Given the description of an element on the screen output the (x, y) to click on. 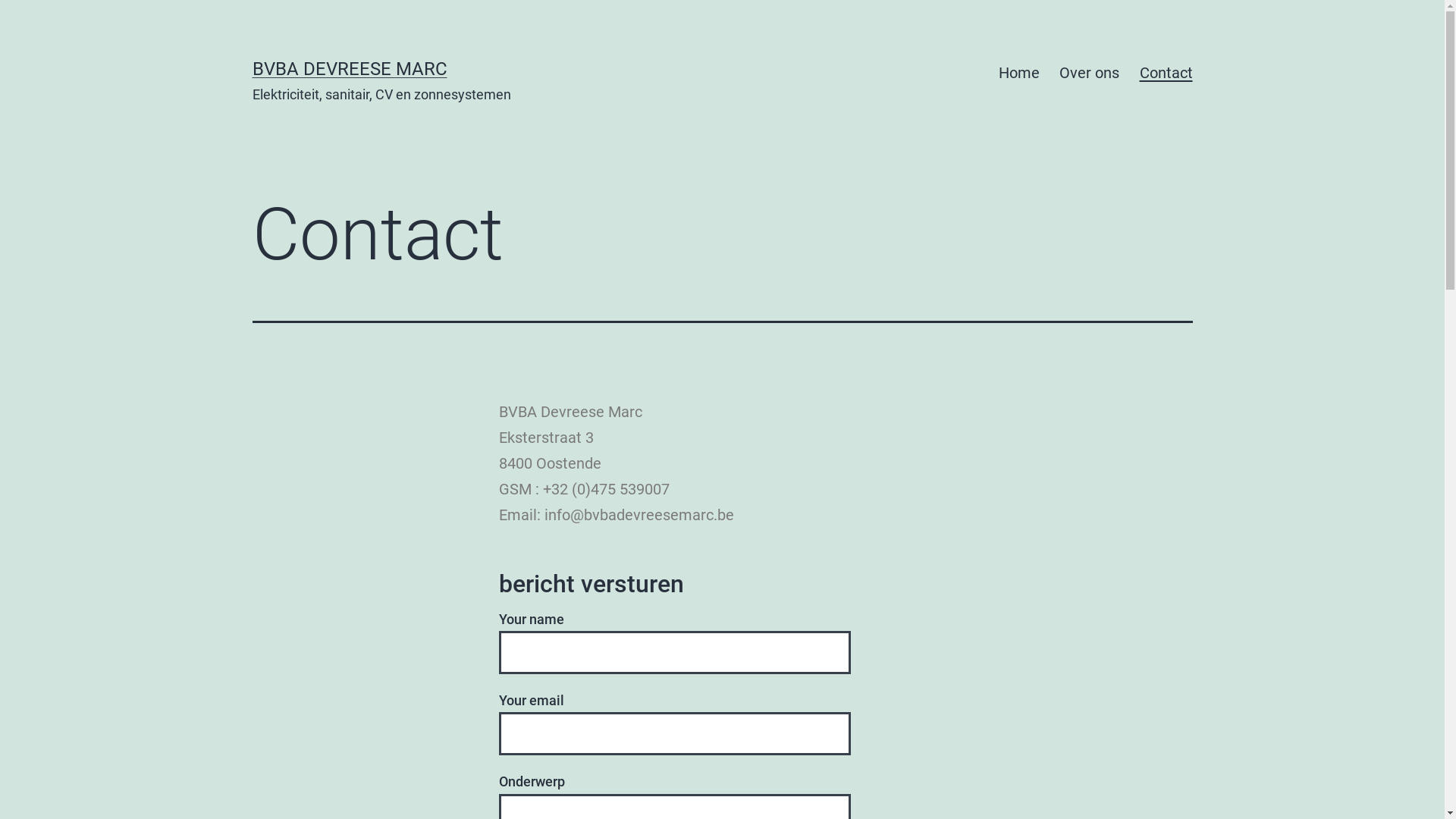
BVBA DEVREESE MARC Element type: text (348, 68)
Home Element type: text (1018, 72)
Contact Element type: text (1165, 72)
Over ons Element type: text (1089, 72)
